Given the description of an element on the screen output the (x, y) to click on. 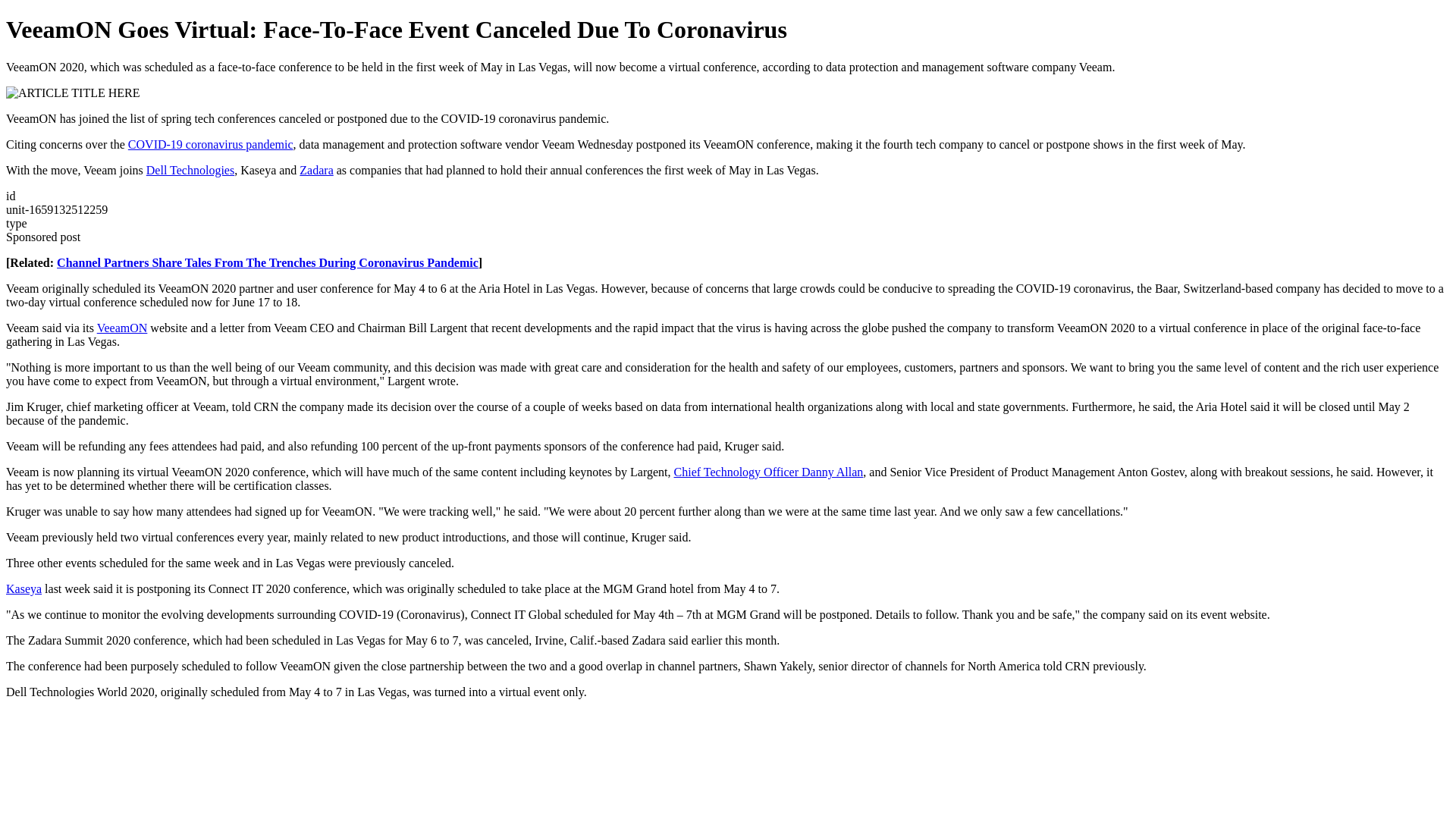
Kaseya (23, 588)
Dell Technologies (190, 169)
Zadara (316, 169)
COVID-19 coronavirus pandemic (211, 144)
VeeamON (122, 327)
Chief Technology Officer Danny Allan (768, 472)
